Given the description of an element on the screen output the (x, y) to click on. 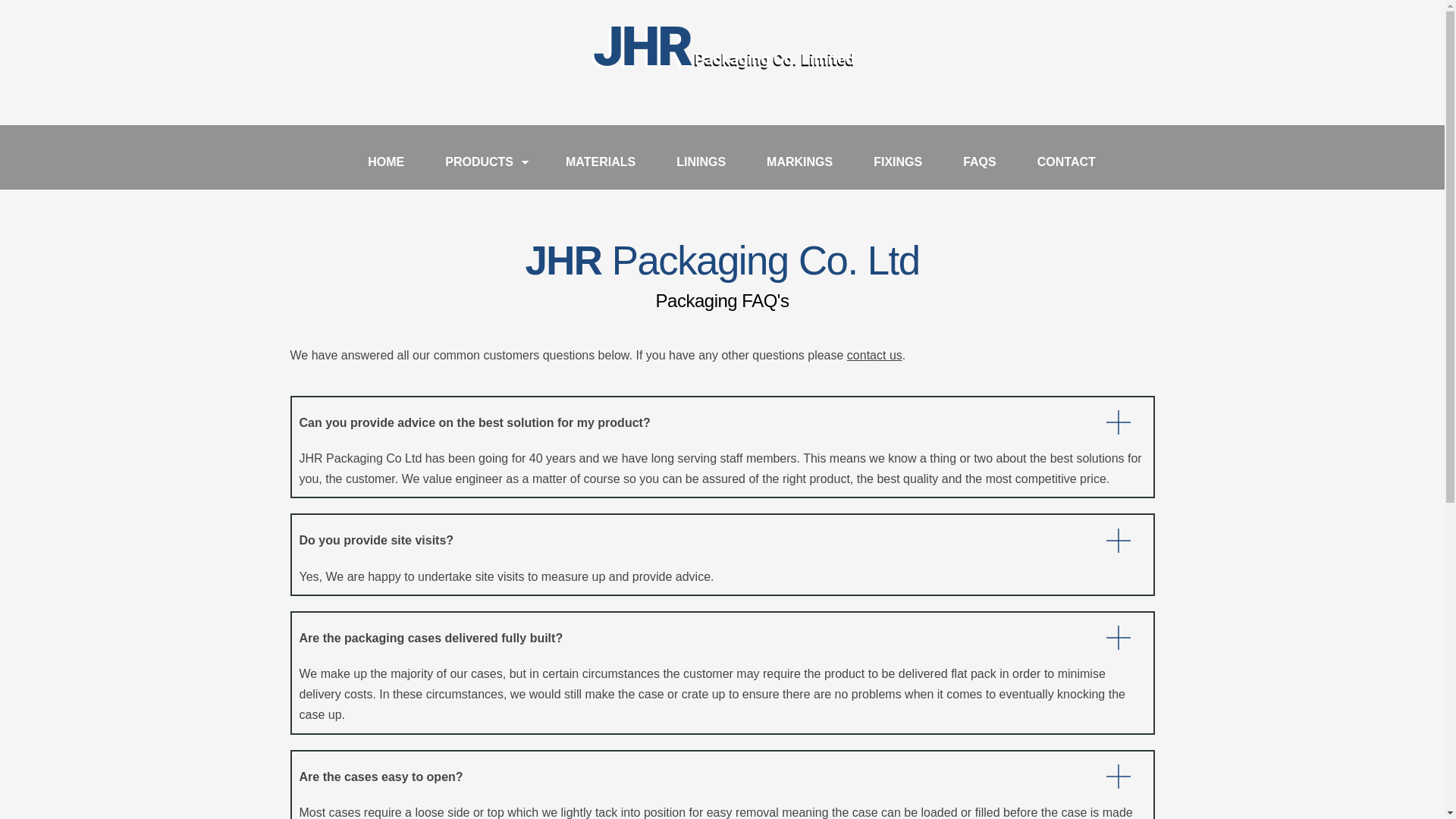
HOME (386, 161)
CONTACT (1056, 161)
Bespoke Packaging Services (722, 46)
FIXINGS (897, 161)
MARKINGS (799, 161)
FAQS (978, 161)
contact us (874, 354)
MATERIALS (600, 161)
JHR packaging (722, 65)
PRODUCTS (479, 161)
